Given the description of an element on the screen output the (x, y) to click on. 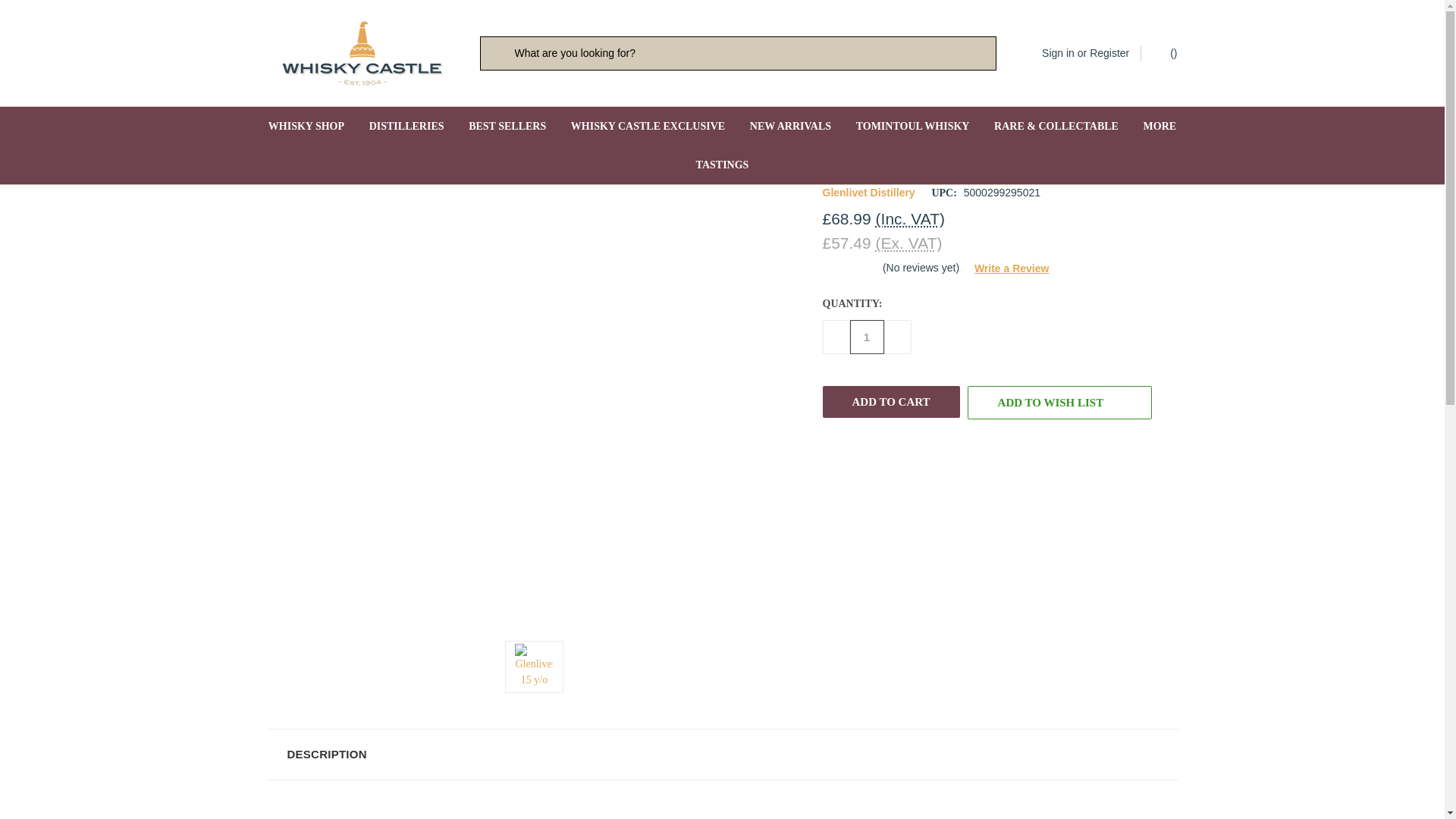
Sign in (1058, 53)
1 (865, 336)
Excluding Tax (909, 242)
WHISKY SHOP (306, 126)
Add to Cart (890, 401)
Register (1109, 53)
The Whisky Castle (361, 52)
Including Tax (910, 218)
